Given the description of an element on the screen output the (x, y) to click on. 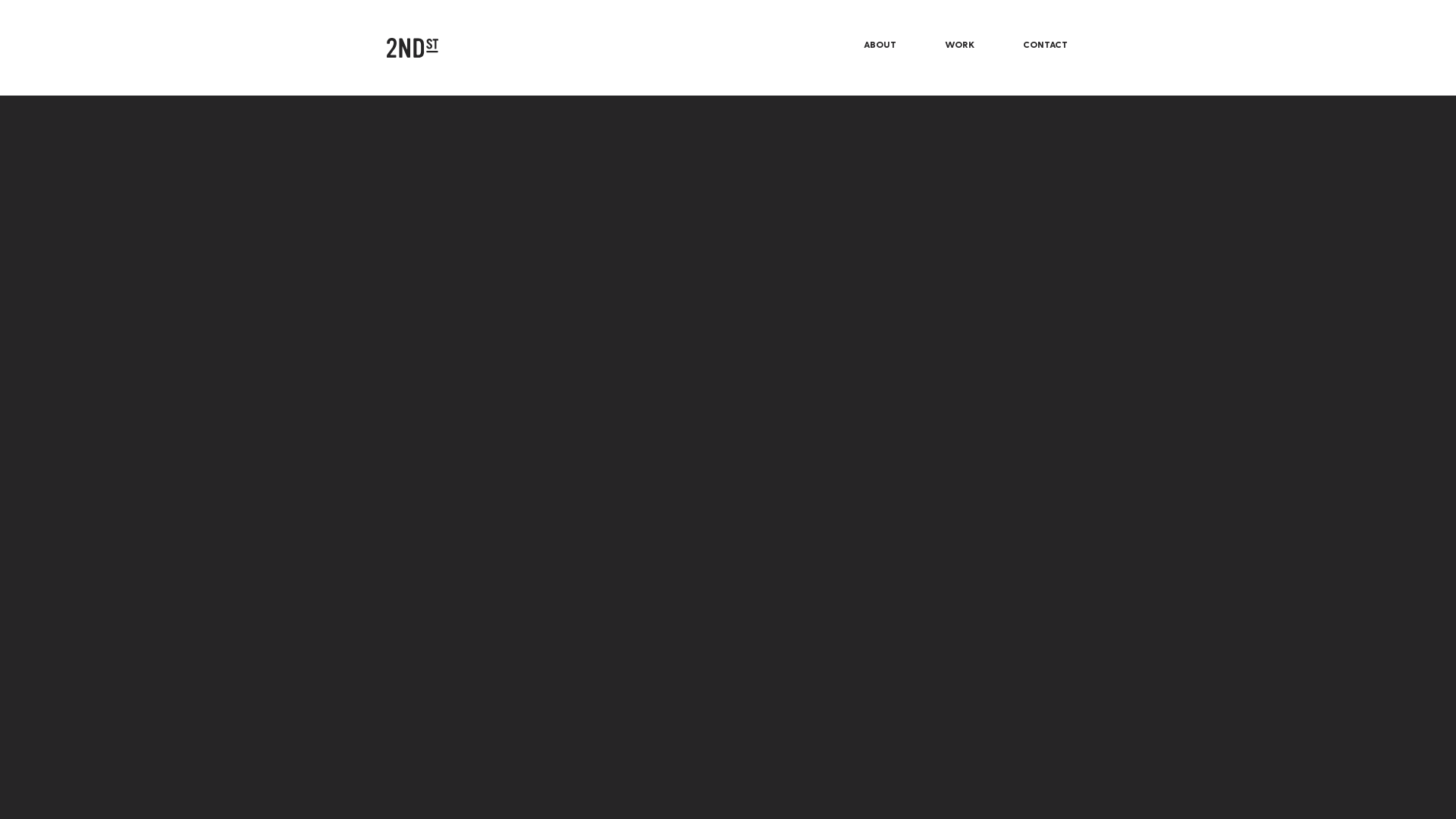
Second Street Creative Element type: text (412, 47)
CONTACT Element type: text (1045, 44)
ABOUT Element type: text (879, 44)
WORK Element type: text (959, 44)
